Given the description of an element on the screen output the (x, y) to click on. 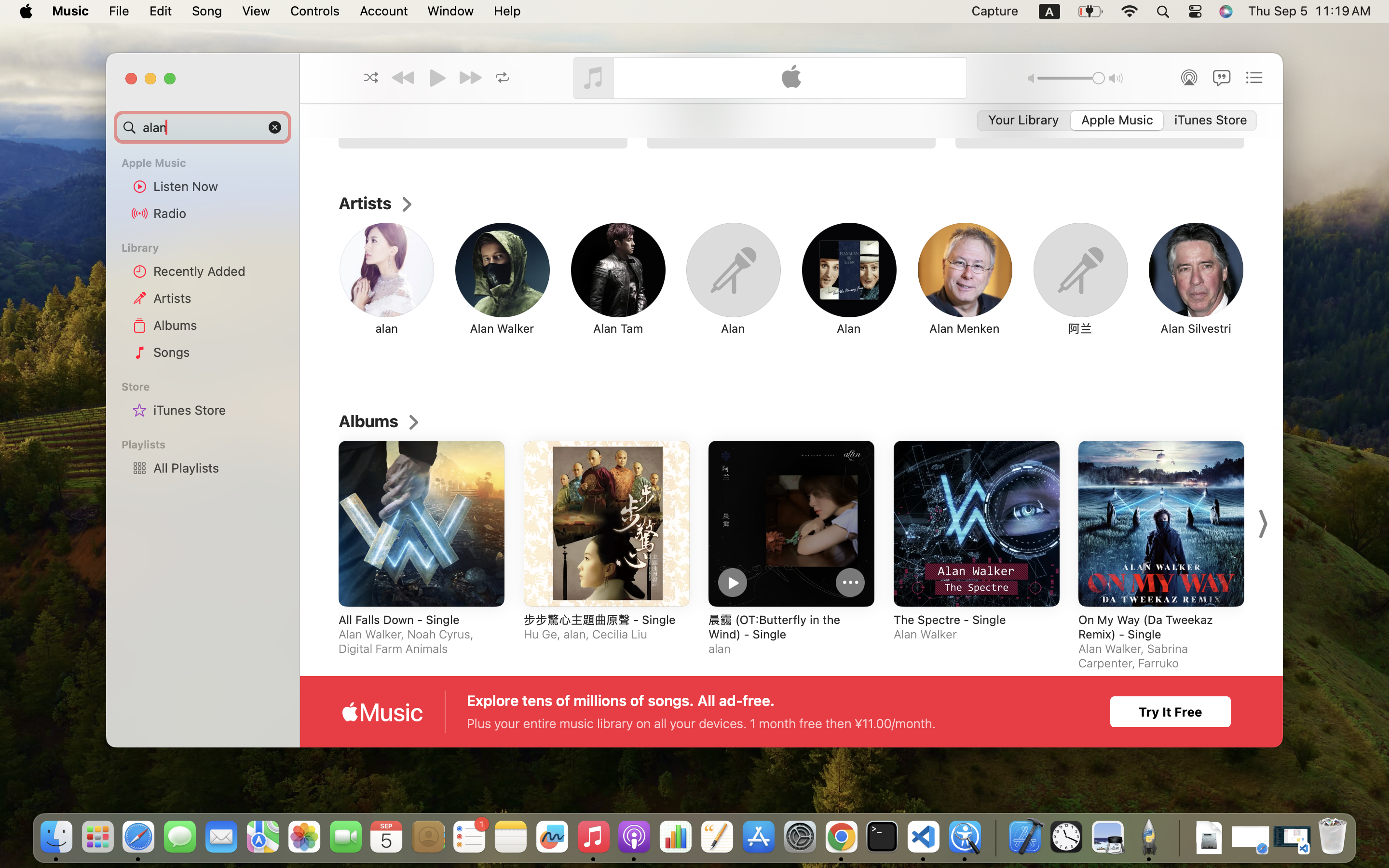
Artists Element type: AXStaticText (217, 297)
Alan Element type: AXStaticText (848, 328)
iTunes Store Element type: AXStaticText (217, 409)
Recently Added Element type: AXStaticText (217, 270)
